Given the description of an element on the screen output the (x, y) to click on. 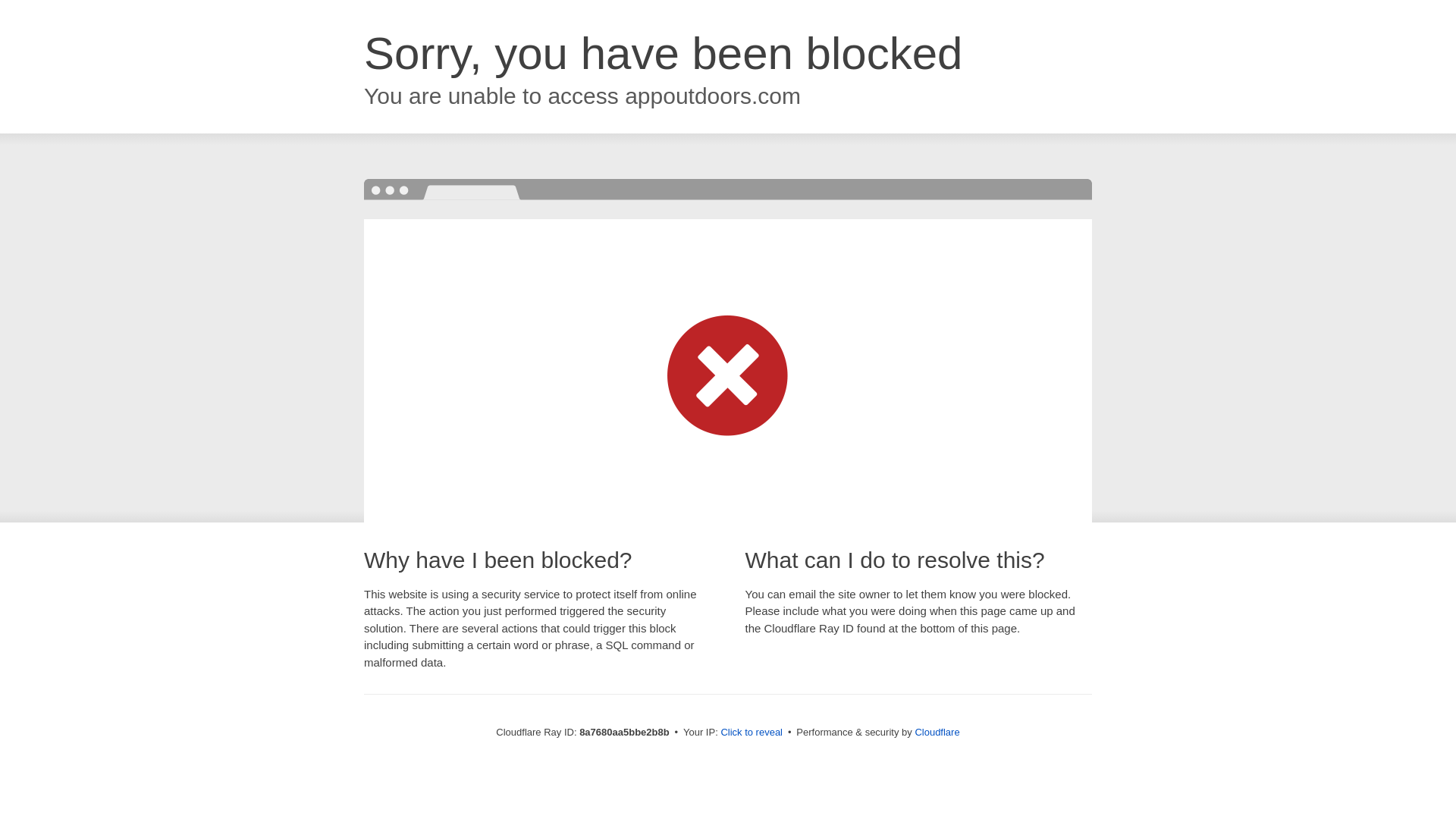
Click to reveal (751, 732)
Cloudflare (936, 731)
